Given the description of an element on the screen output the (x, y) to click on. 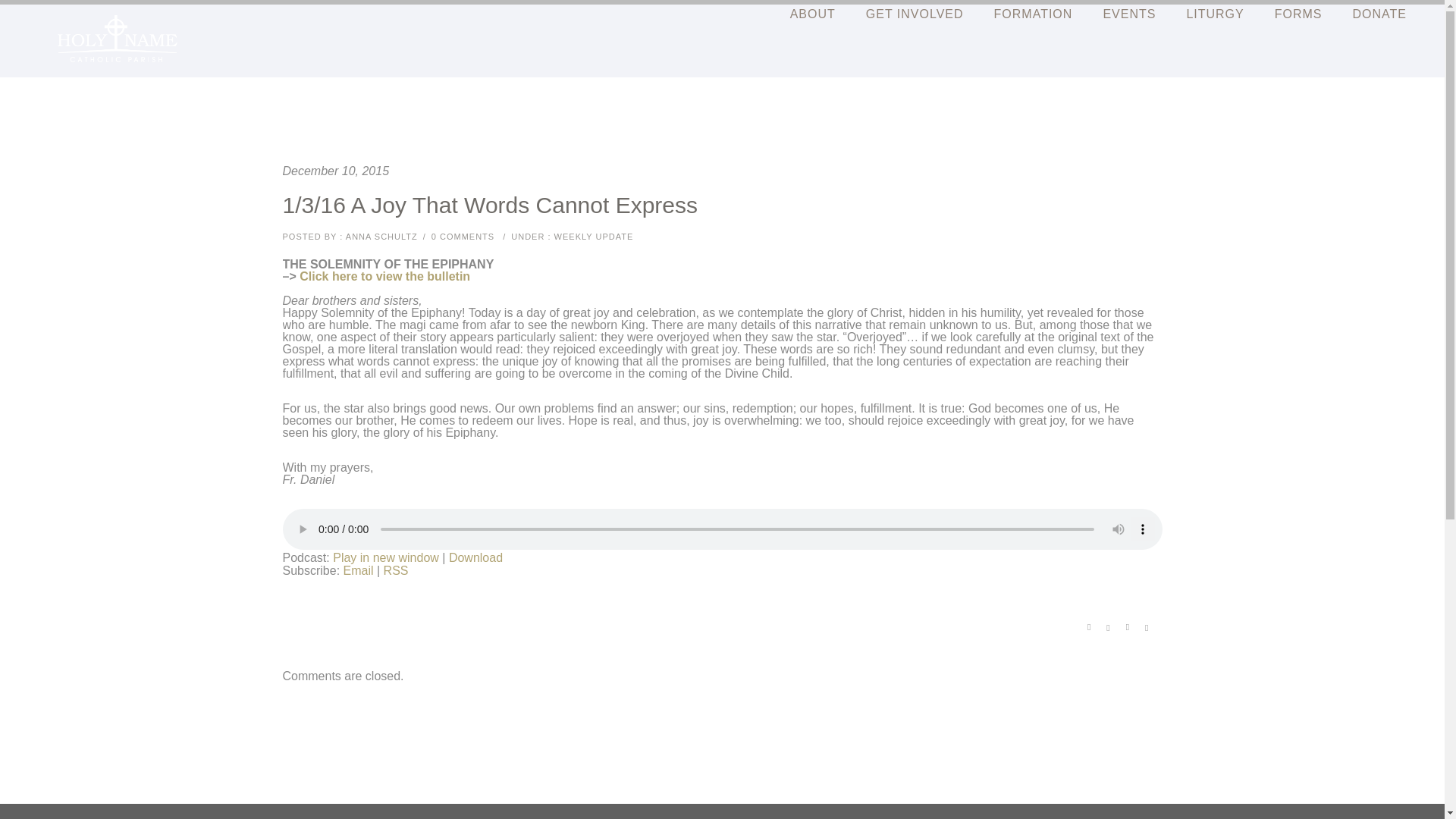
View all posts in Weekly Update (592, 235)
WEEKLY UPDATE (592, 235)
DONATE (1380, 14)
Play in new window (386, 557)
FORMATION (1032, 14)
EVENTS (1128, 14)
Download (475, 557)
GET INVOLVED (914, 14)
Email (358, 570)
ABOUT (812, 14)
